Given the description of an element on the screen output the (x, y) to click on. 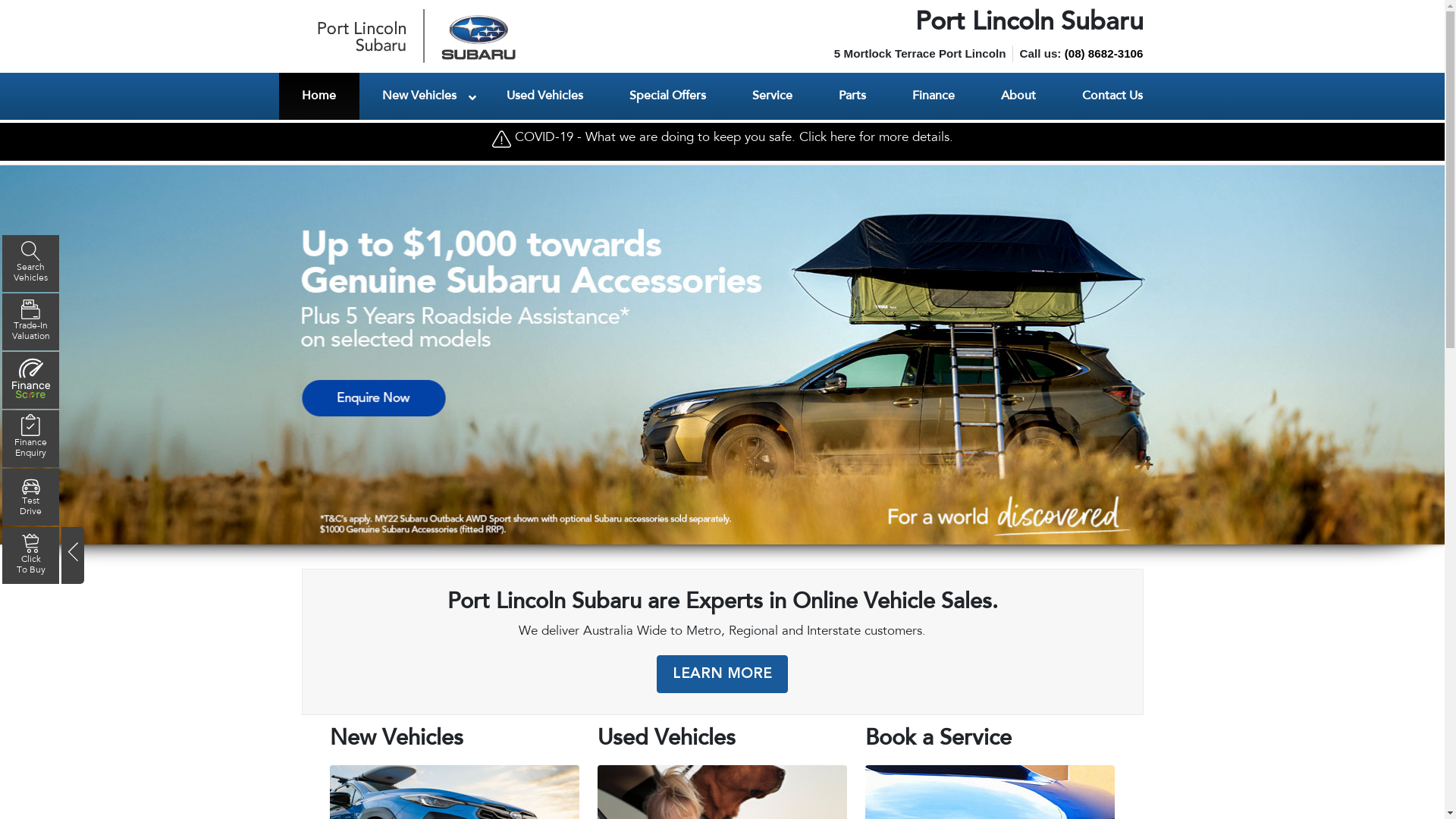
Home Element type: text (319, 95)
New Vehicles Element type: text (421, 95)
Search
Vehicles Element type: text (30, 263)
(08) 8682-3106 Element type: text (1103, 53)
Contact Us Element type: text (1111, 95)
Test
Drive Element type: text (30, 496)
LEARN MORE Element type: text (721, 674)
Trade-In
Valuation Element type: text (30, 321)
Finance
Enquiry Element type: text (30, 438)
Used Vehicles Element type: text (544, 95)
Click
To Buy Element type: text (30, 555)
Special Offers Element type: text (667, 95)
Finance Element type: text (932, 95)
About Element type: text (1018, 95)
Service Element type: text (772, 95)
Parts Element type: text (852, 95)
